Given the description of an element on the screen output the (x, y) to click on. 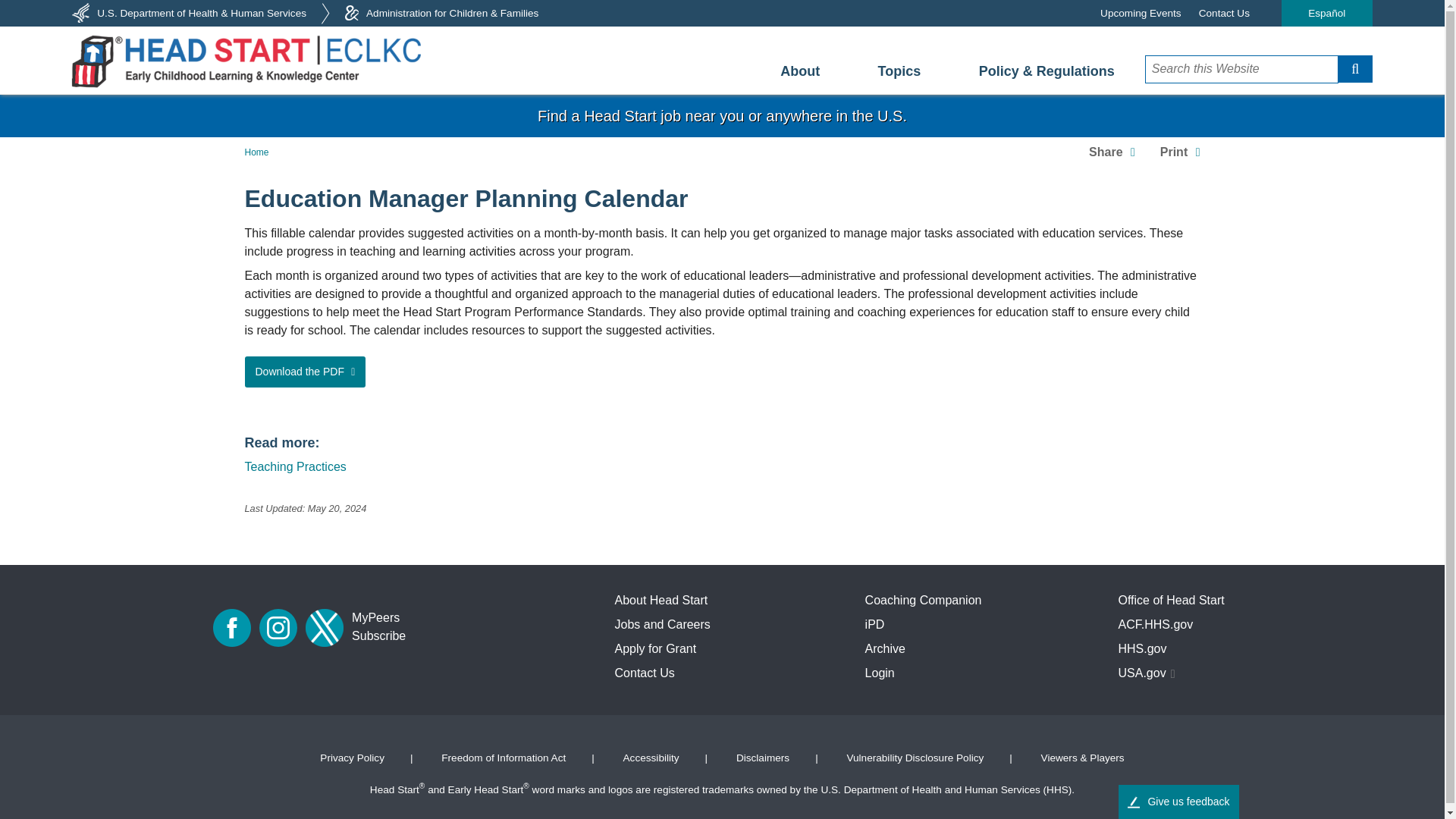
Topics (899, 71)
Contact Us (1223, 13)
View all Teaching Practices related content (295, 466)
Go to Instagram (278, 628)
Learn more about the Head Start Coaching Companion. (922, 599)
Go to Facebook (231, 628)
Subscribe (379, 636)
Job Center (722, 116)
Skip to main content (721, 98)
Jobs and Careers (662, 624)
Printer Friendly and PDF (1179, 151)
MyPeers (375, 618)
Upcoming Events (1140, 13)
Go to Twitter (324, 628)
Open the PDF file (304, 371)
